Given the description of an element on the screen output the (x, y) to click on. 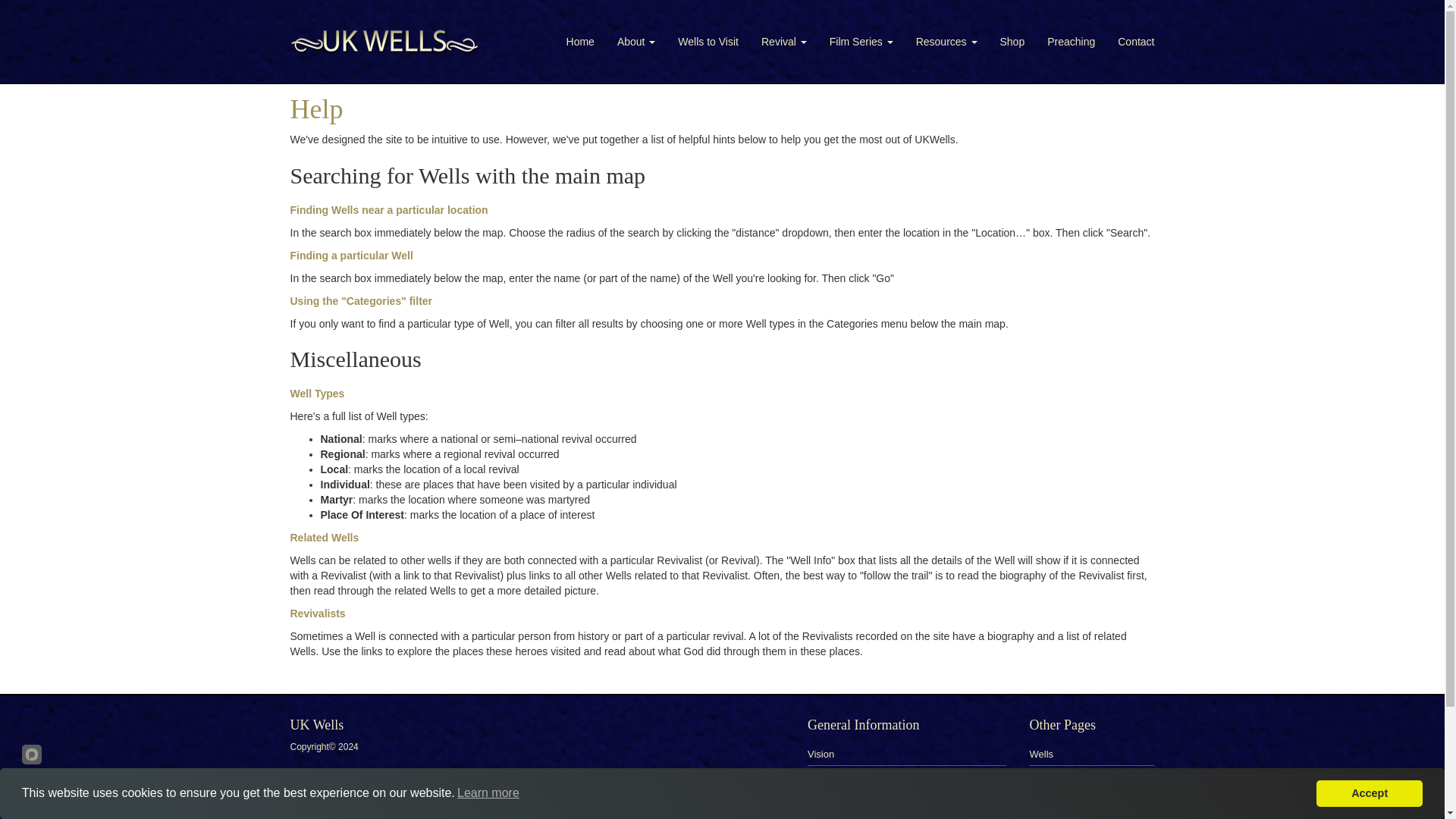
Revival (783, 41)
Revivalists (1052, 775)
Histories (1048, 815)
About (635, 41)
Resources (946, 41)
Contact (1136, 41)
Biography (829, 775)
Film Series (861, 41)
Shop (818, 796)
Wells to Visit (707, 41)
